Given the description of an element on the screen output the (x, y) to click on. 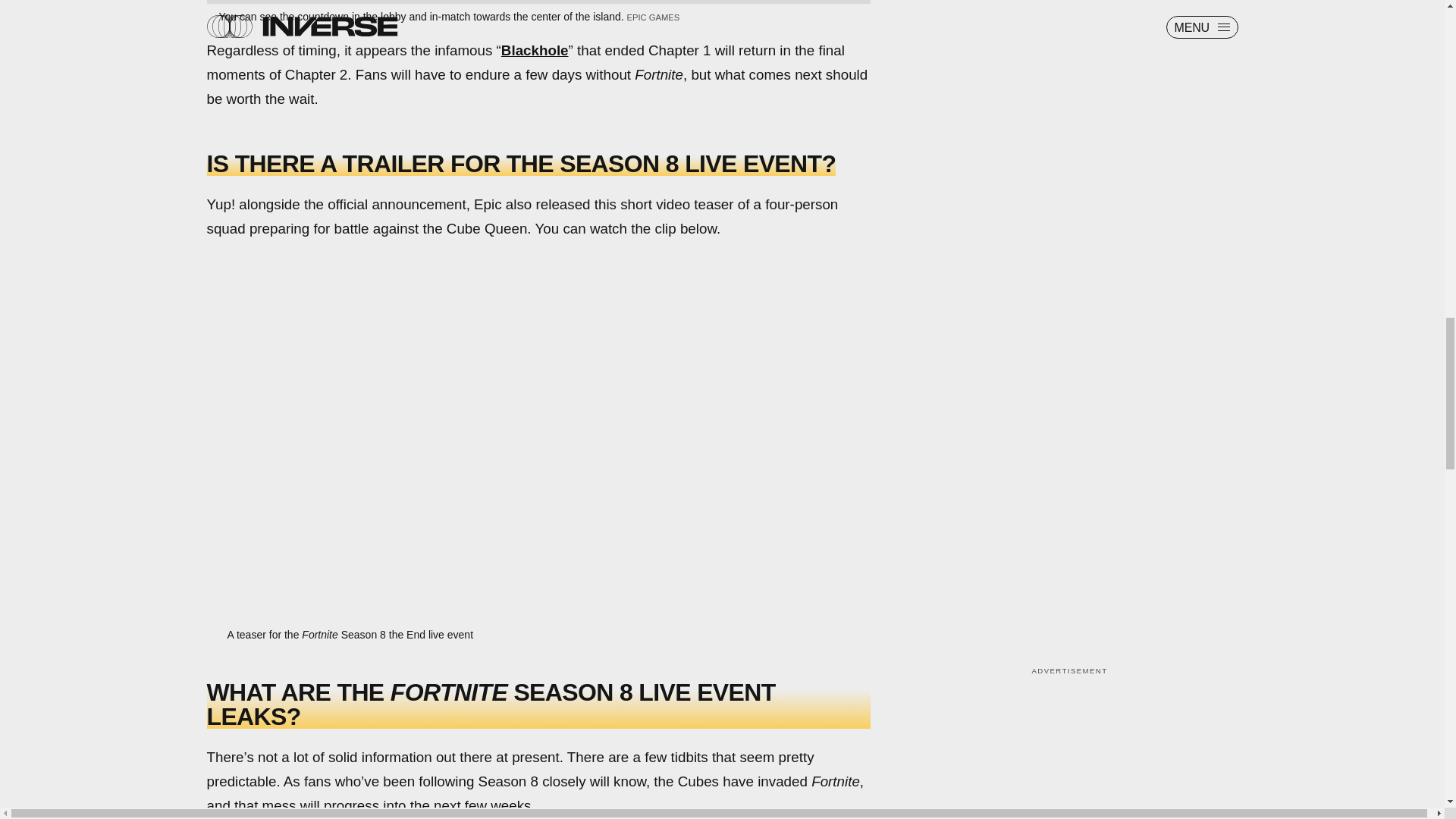
Blackhole (534, 50)
